Given the description of an element on the screen output the (x, y) to click on. 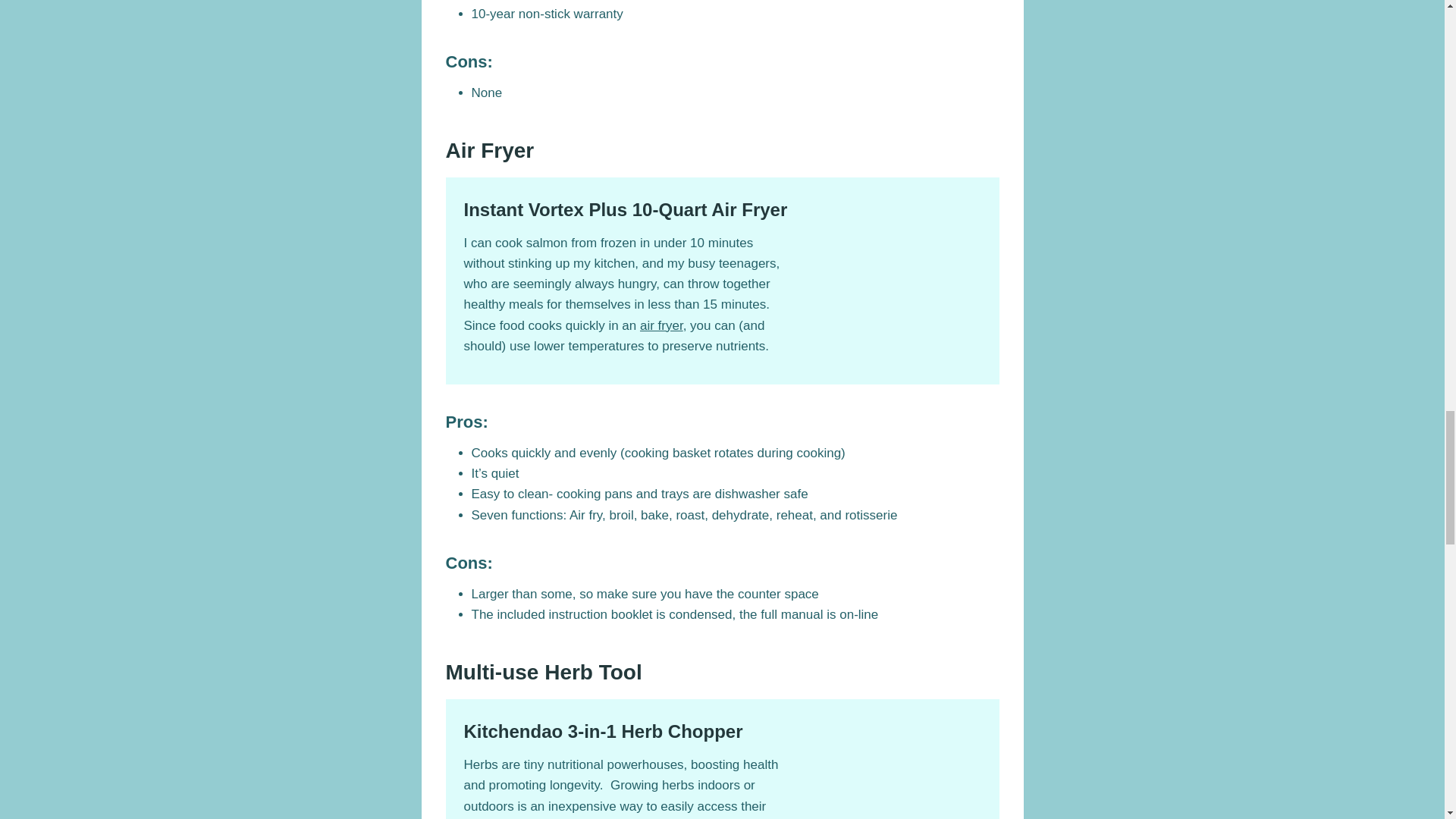
air fryer (661, 325)
